Given the description of an element on the screen output the (x, y) to click on. 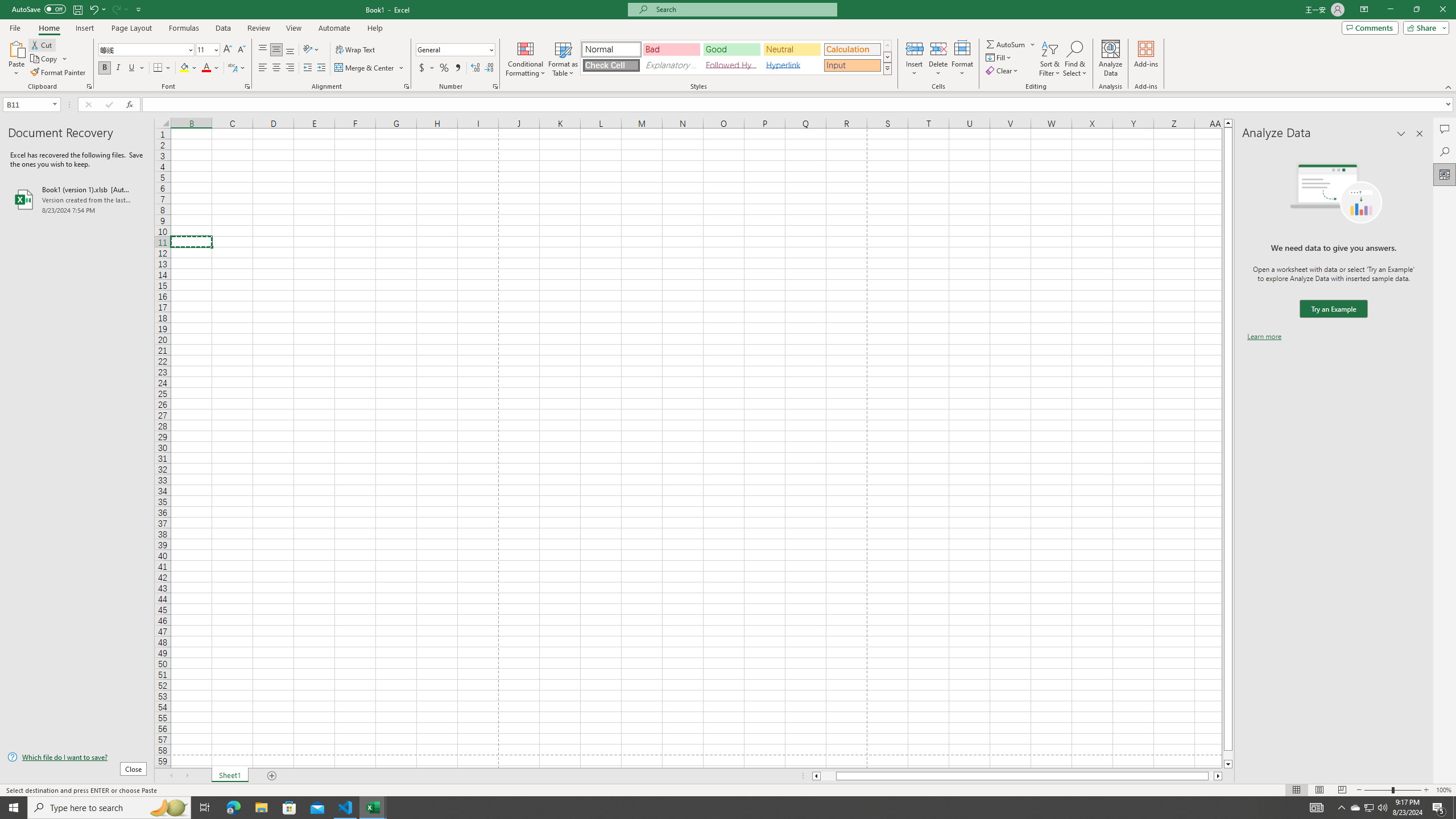
Copy (49, 58)
Borders (162, 67)
Input (852, 65)
Cell Styles (887, 68)
Increase Indent (320, 67)
Merge & Center (369, 67)
Increase Decimal (474, 67)
